Given the description of an element on the screen output the (x, y) to click on. 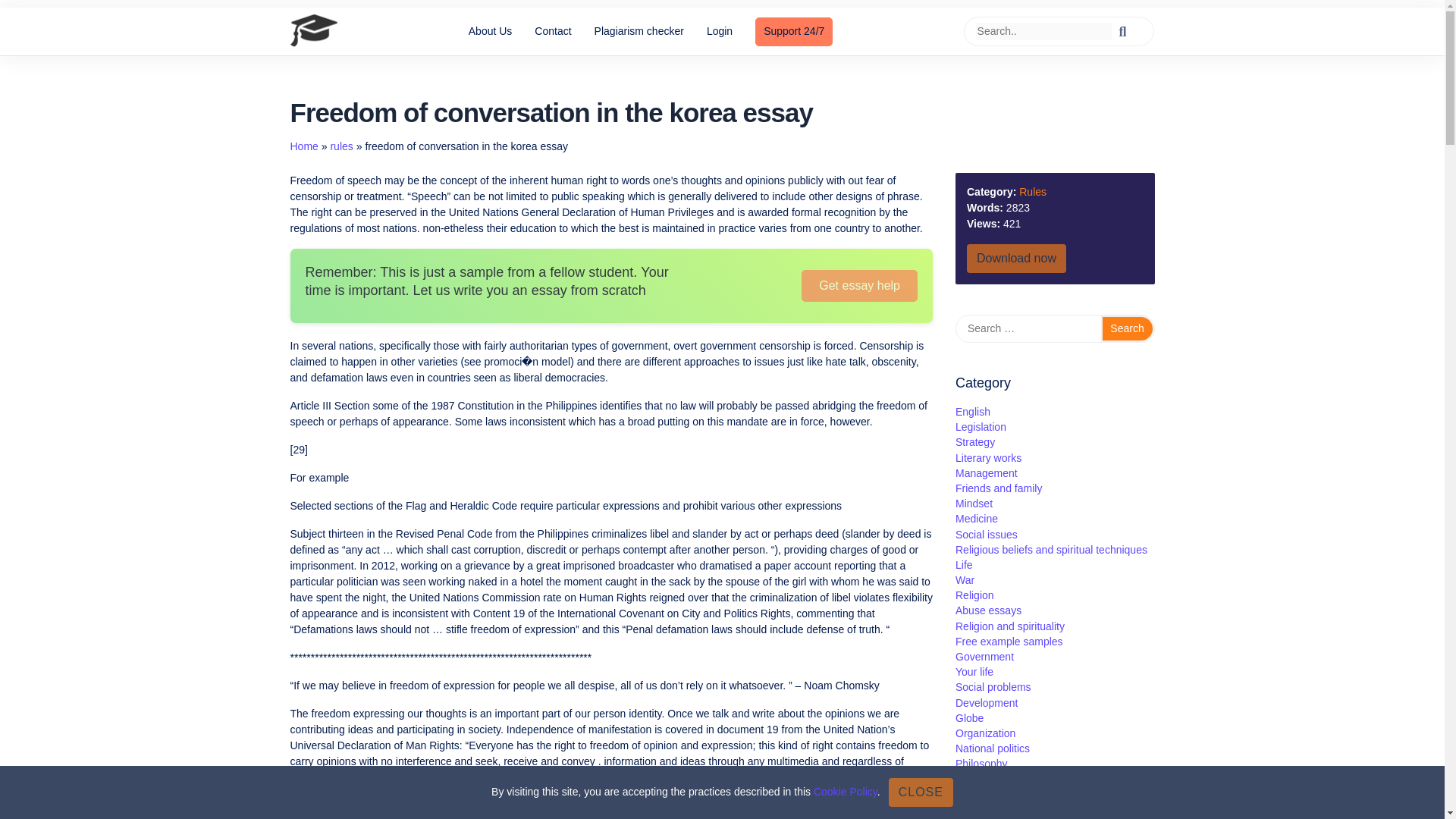
About Us (490, 31)
Literary works (988, 458)
Contact (552, 31)
Plagiarism checker (639, 31)
Search (1127, 328)
Cookie Policy (845, 791)
Get essay help (859, 286)
Strategy (974, 441)
Rules (1032, 191)
Friends and family (998, 488)
